Given the description of an element on the screen output the (x, y) to click on. 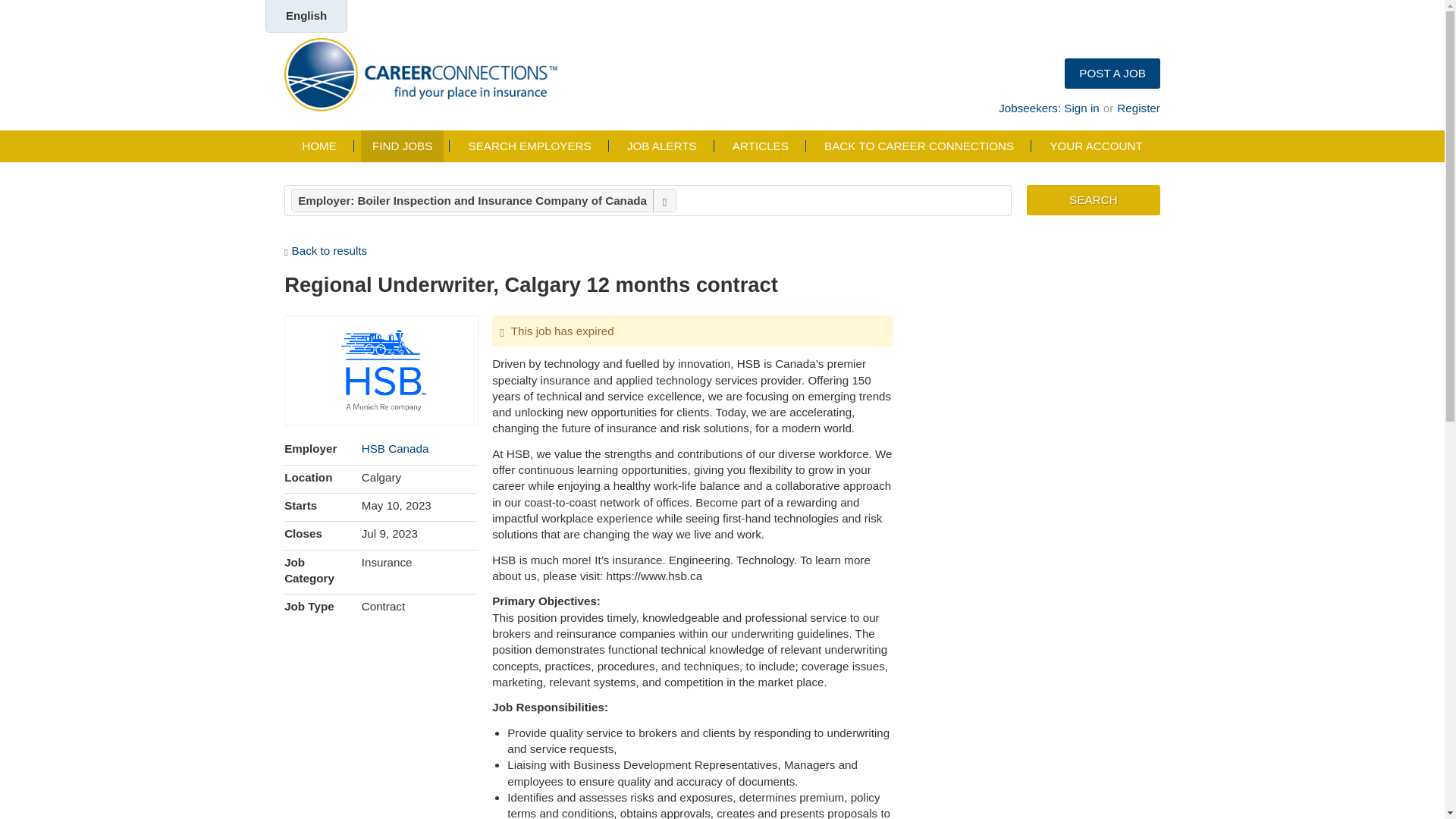
FIND JOBS (402, 145)
Jobseekers: Sign in (1048, 107)
ARTICLES (759, 145)
HOME (318, 145)
HSB Canada (395, 448)
Register (1138, 107)
JOB ALERTS (661, 145)
POST A JOB (1112, 72)
SEARCH EMPLOYERS (529, 145)
SEARCH (1093, 200)
Back to results (324, 250)
YOUR ACCOUNT (1095, 145)
Change Language (305, 16)
